Given the description of an element on the screen output the (x, y) to click on. 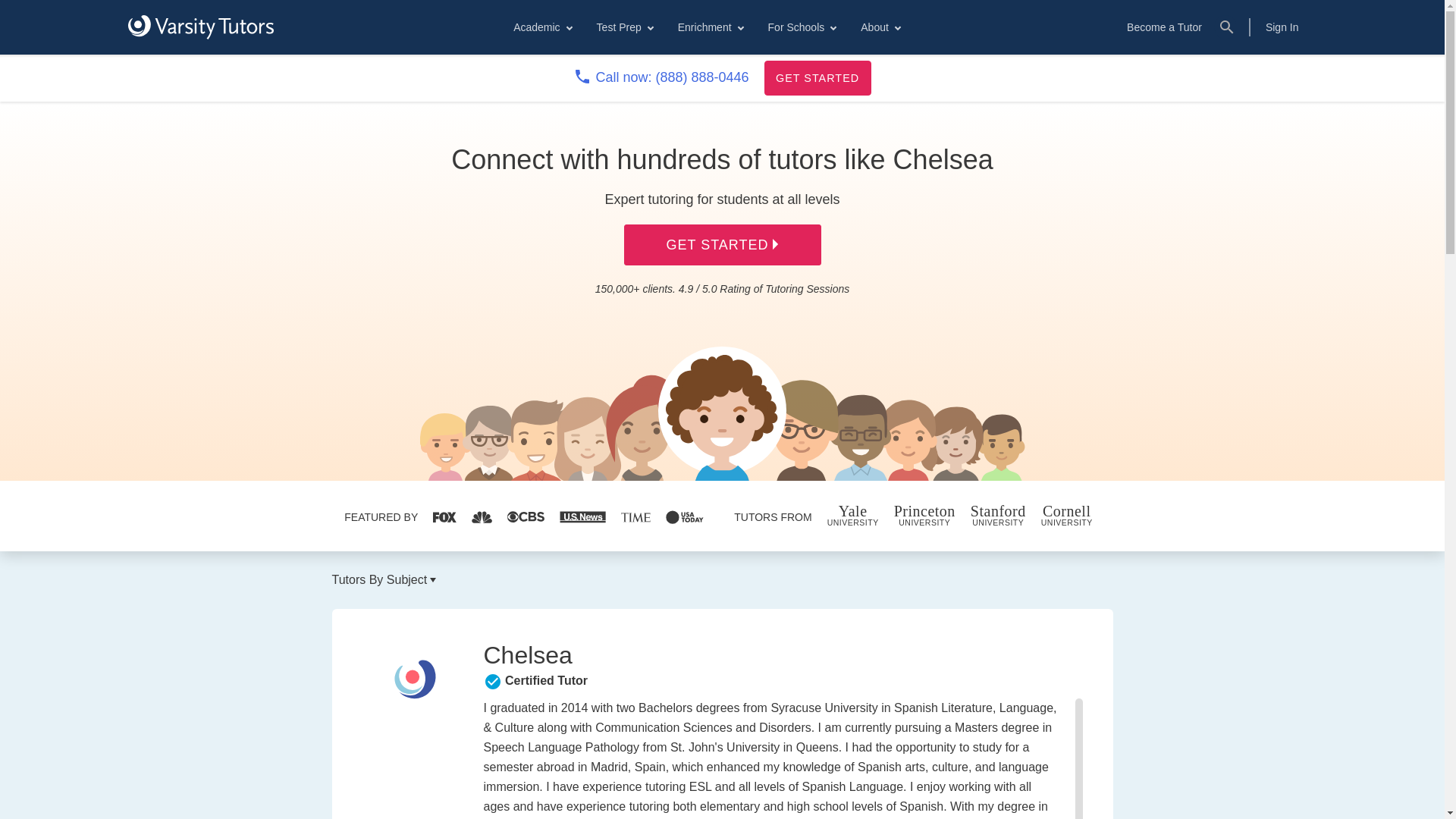
Academic (541, 27)
Varsity Tutors (200, 27)
GET STARTED (817, 77)
Varsity Tutors (200, 26)
